Given the description of an element on the screen output the (x, y) to click on. 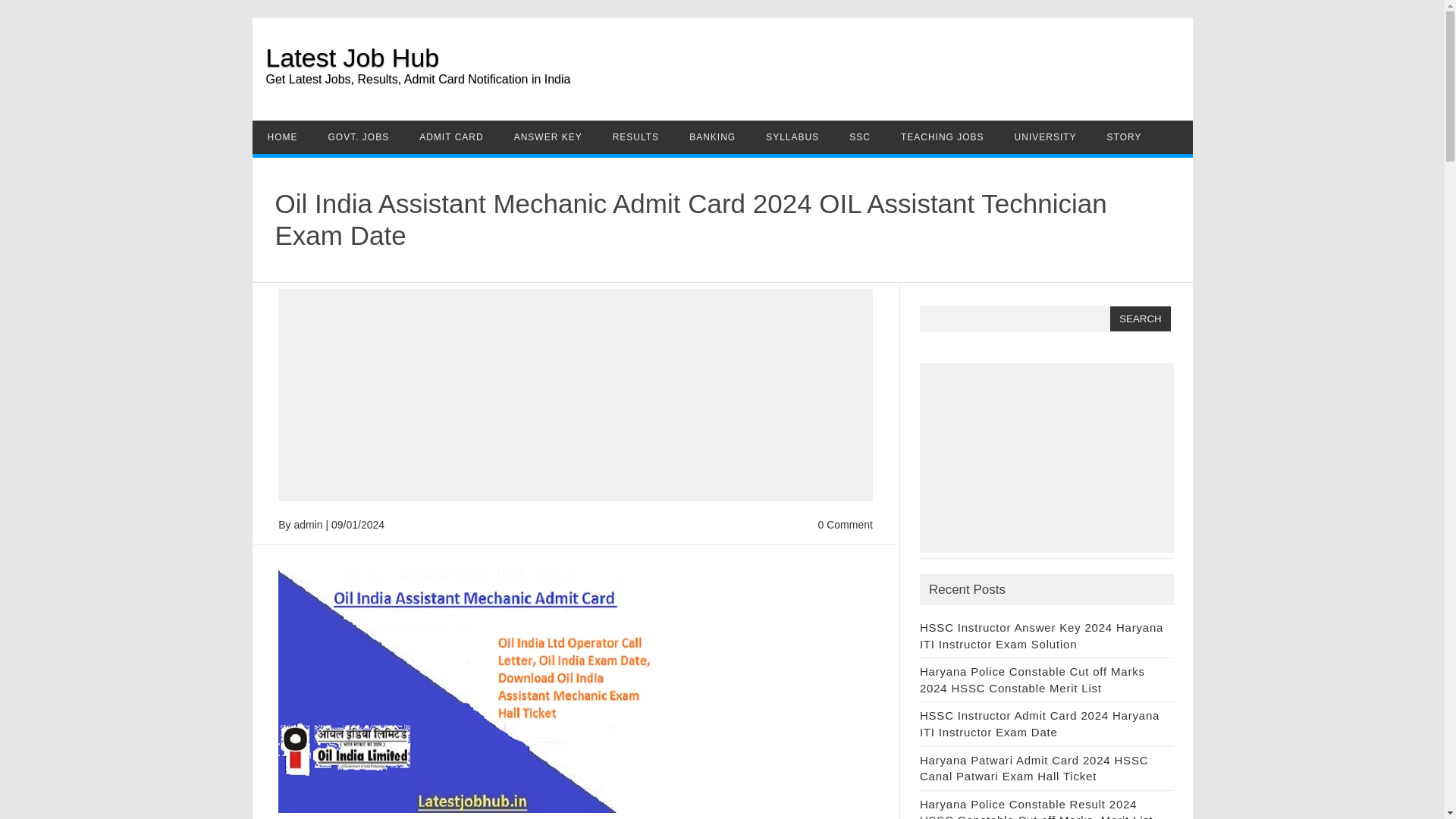
Latest Job Hub (351, 57)
SSC (859, 136)
BANKING (712, 136)
ANSWER KEY (547, 136)
TEACHING JOBS (941, 136)
RESULTS (635, 136)
HOME (282, 136)
Posts by admin (307, 524)
Get Latest Jobs, Results, Admit Card Notification in India (728, 88)
